Given the description of an element on the screen output the (x, y) to click on. 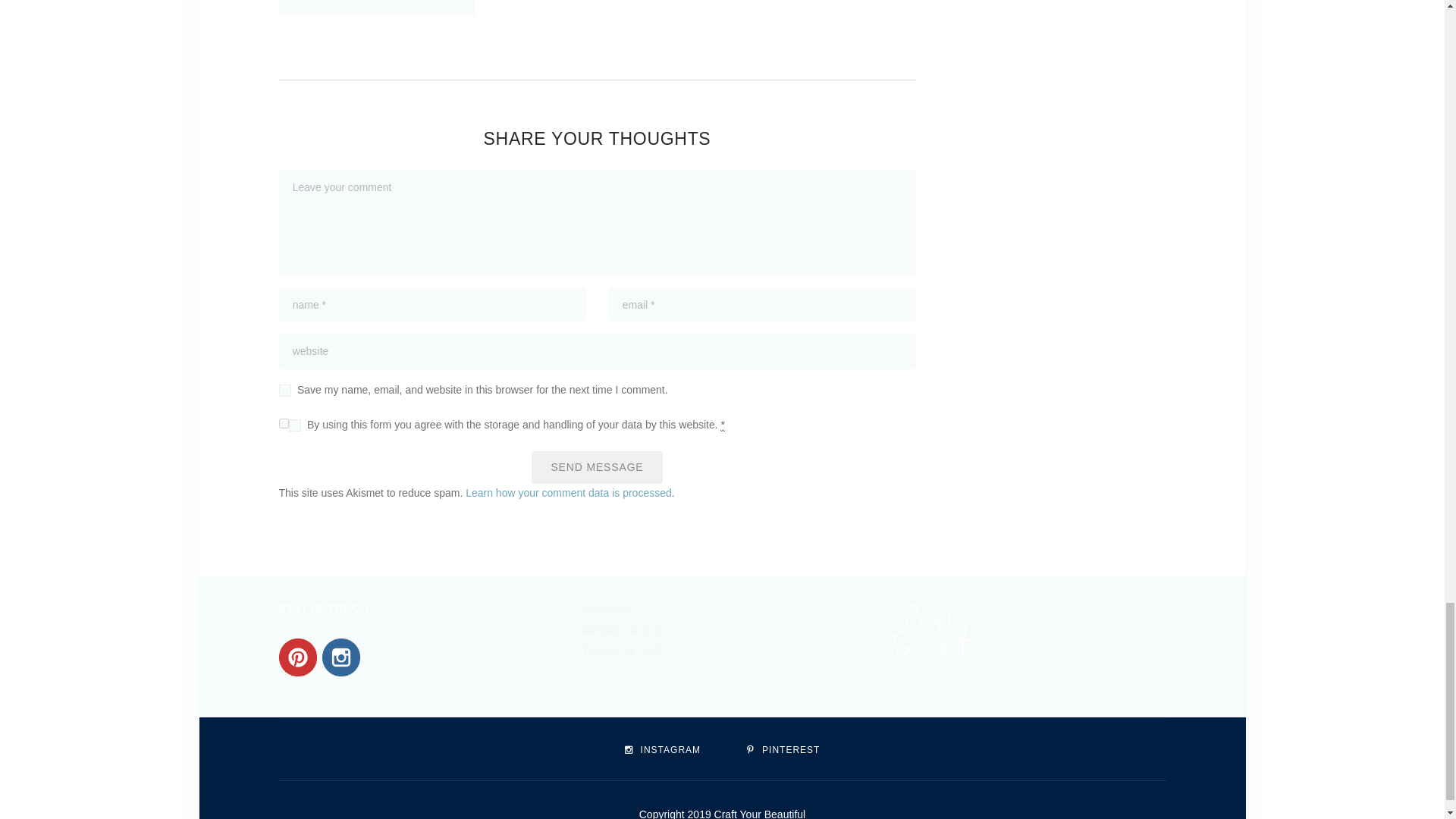
Send message (596, 467)
Send message (596, 467)
1 (283, 423)
